Given the description of an element on the screen output the (x, y) to click on. 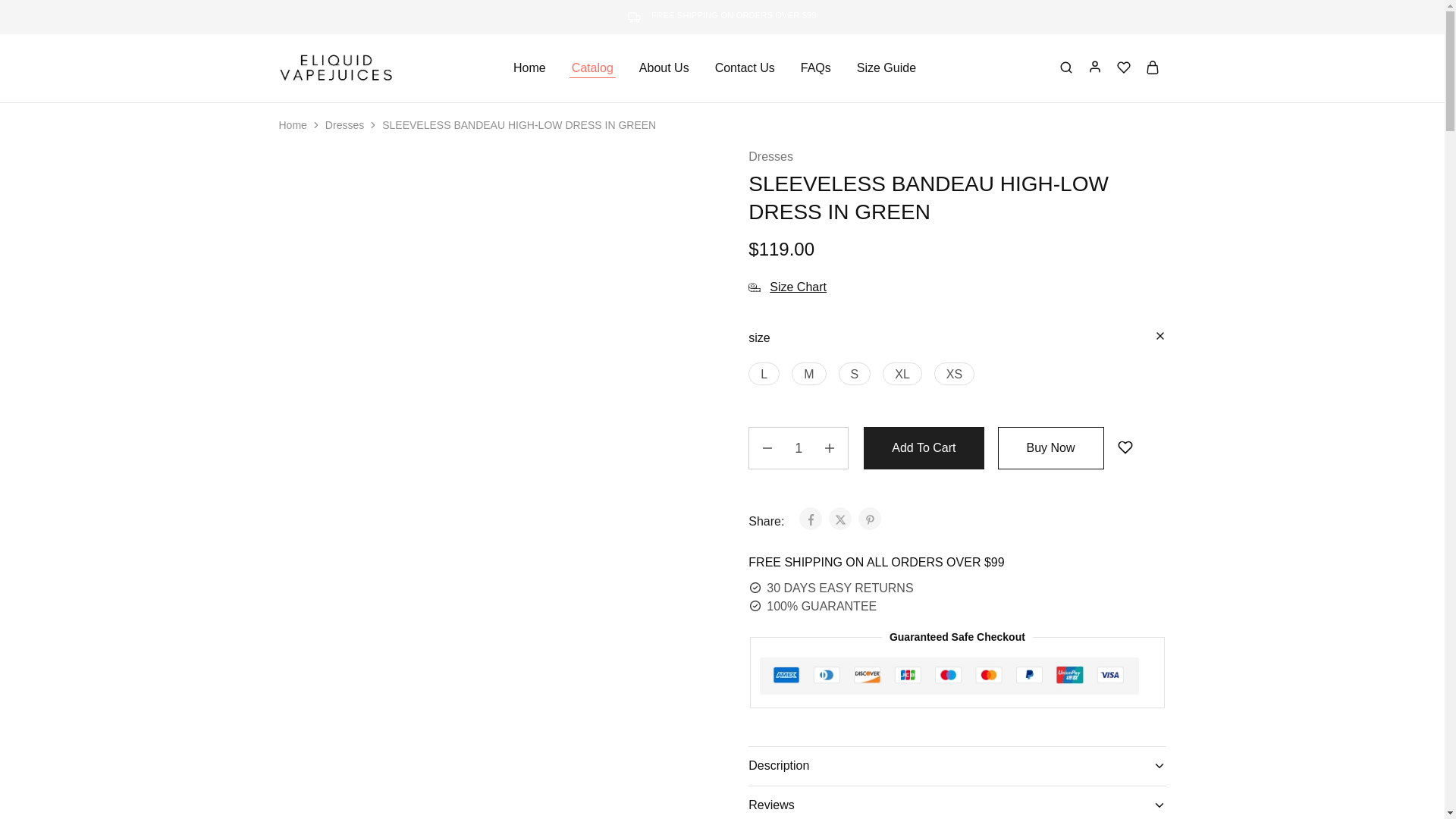
Dresses (770, 157)
Size Guide (886, 67)
Description (957, 765)
Reviews (957, 802)
Home (293, 124)
About Us (664, 67)
Dresses (344, 124)
FAQs (814, 67)
Add To Cart (923, 447)
Size Chart (787, 287)
Buy Now (1050, 447)
Home (529, 67)
Contact Us (745, 67)
Catalog (592, 67)
